Given the description of an element on the screen output the (x, y) to click on. 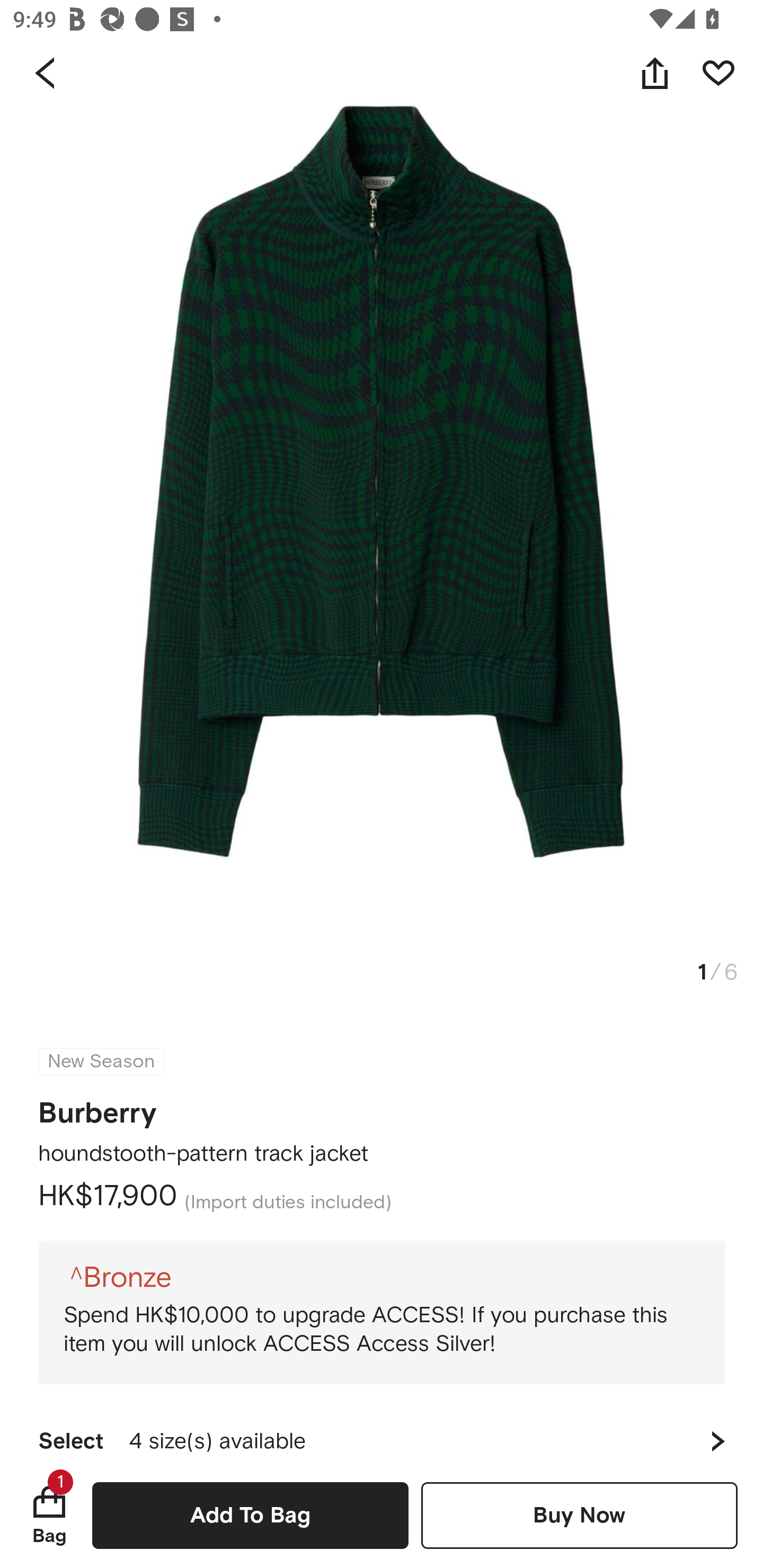
Burberry (97, 1107)
Select 4 size(s) available (381, 1432)
Bag 1 (49, 1515)
Add To Bag (250, 1515)
Buy Now (579, 1515)
